Given the description of an element on the screen output the (x, y) to click on. 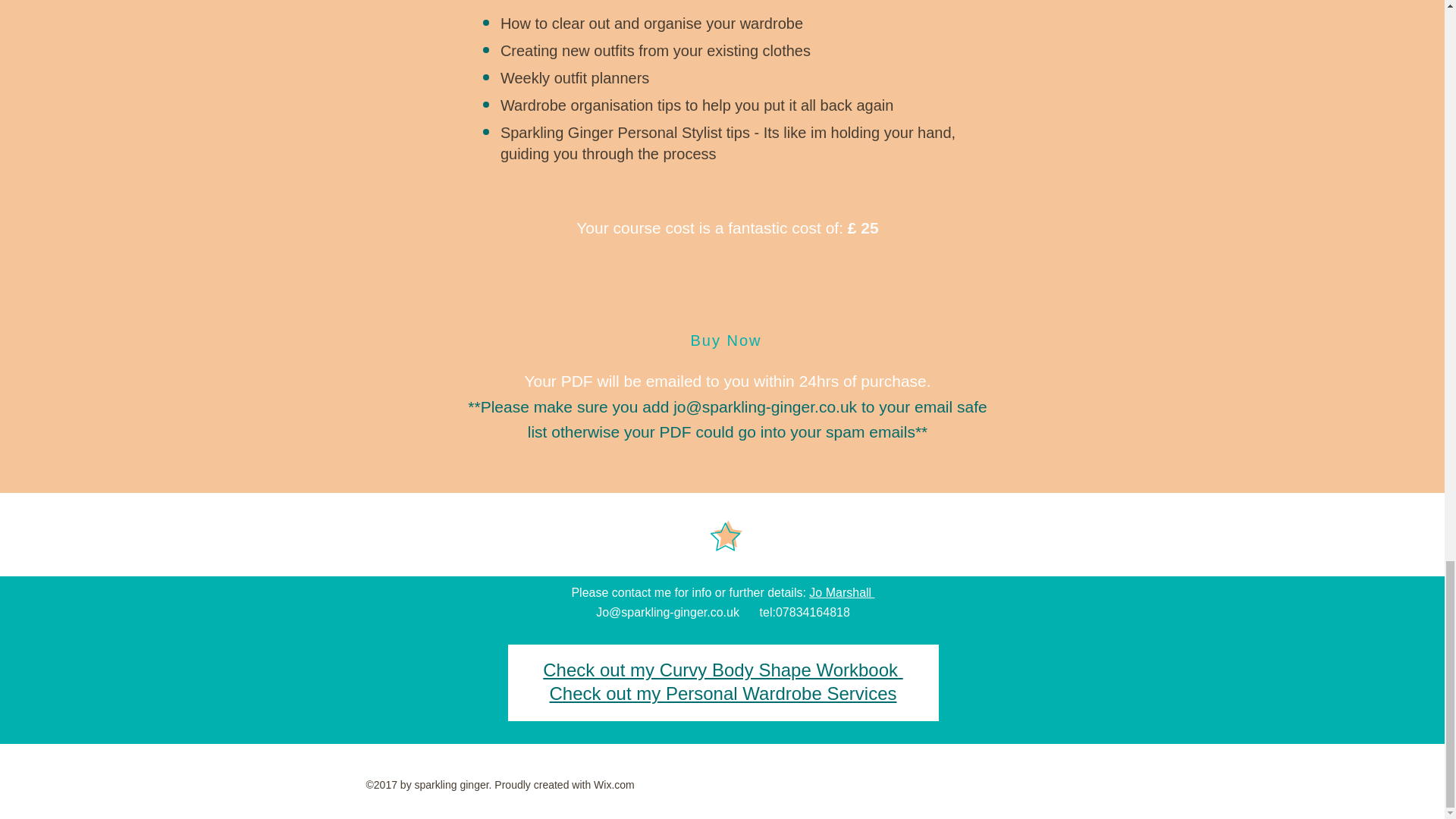
Check out my Personal Wardrobe Services (723, 693)
Buy Now (727, 340)
Jo Marshall  (842, 592)
Check out my Curvy Body Shape Workbook  (722, 670)
